Given the description of an element on the screen output the (x, y) to click on. 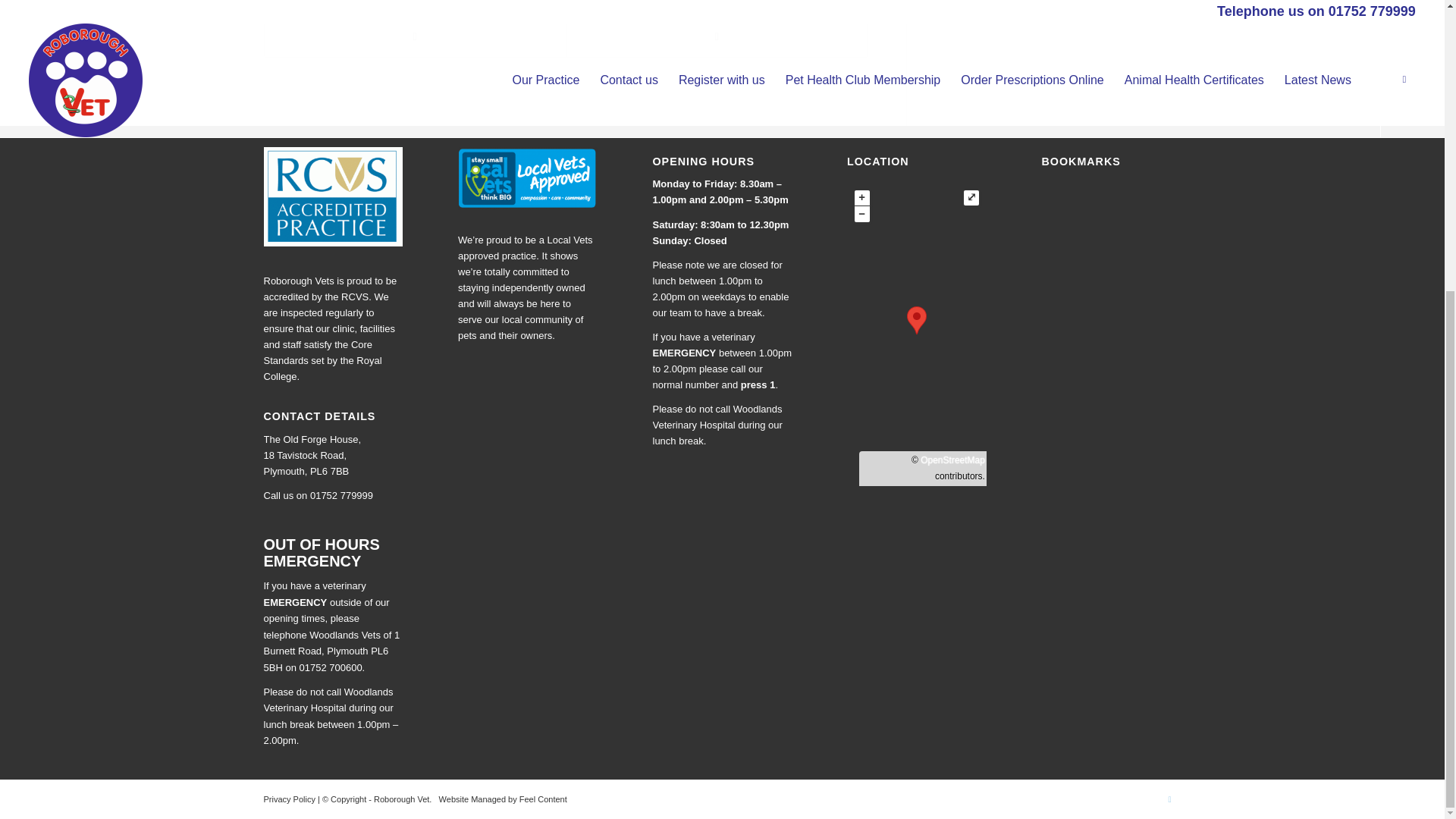
Feel Content (543, 798)
OpenStreetMap (952, 460)
Zoom in (861, 197)
Privacy Policy (290, 798)
Facebook (1169, 798)
Zoom out (861, 213)
Toggle full-screen (970, 197)
